Given the description of an element on the screen output the (x, y) to click on. 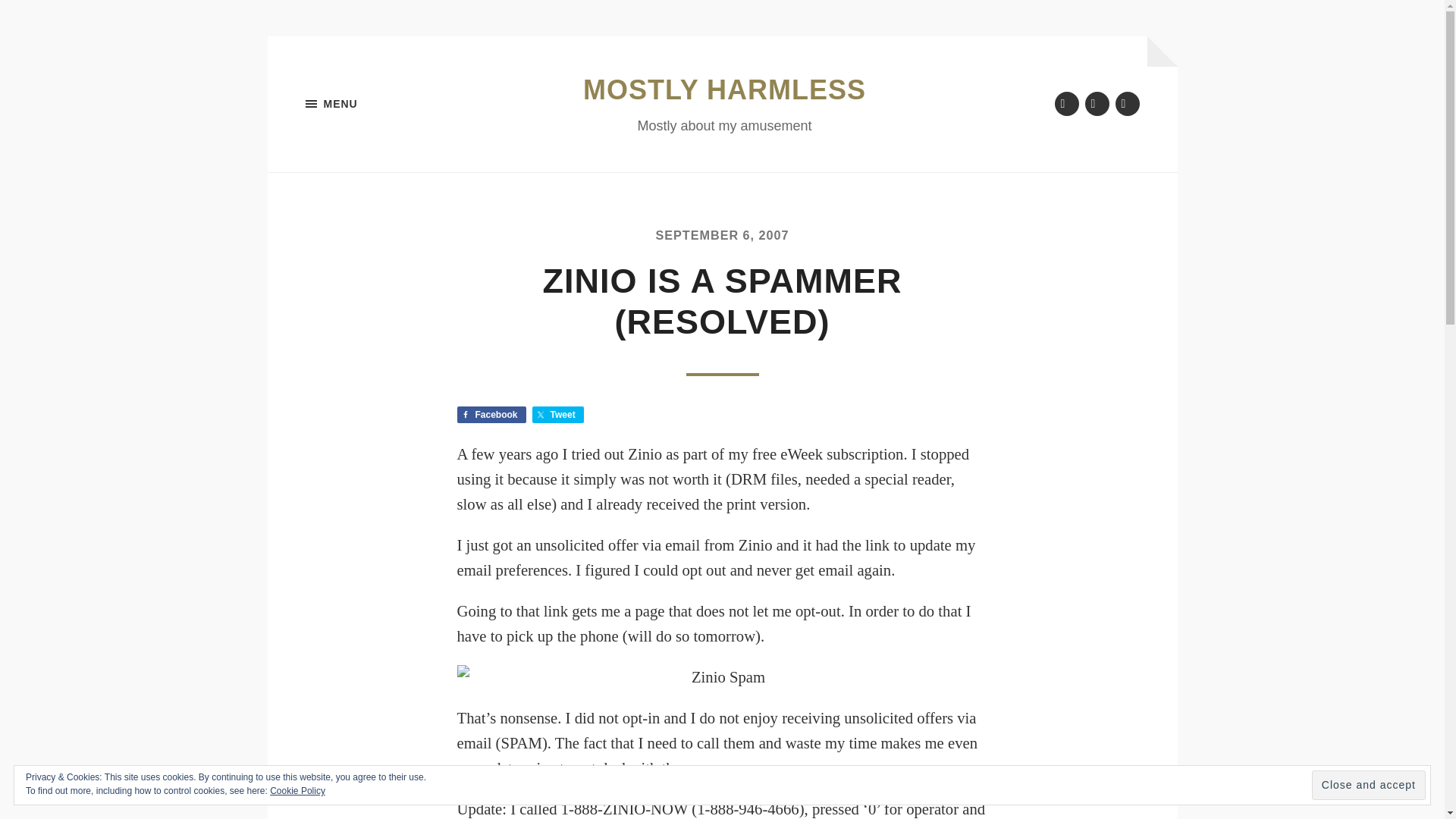
Tweet (557, 414)
SEPTEMBER 6, 2007 (722, 234)
Share on Facebook (491, 414)
Share on Twitter (557, 414)
MOSTLY HARMLESS (724, 89)
Close and accept (1368, 785)
Flickr (1096, 103)
MENU (380, 103)
Facebook (491, 414)
Mastodon (1126, 103)
